Given the description of an element on the screen output the (x, y) to click on. 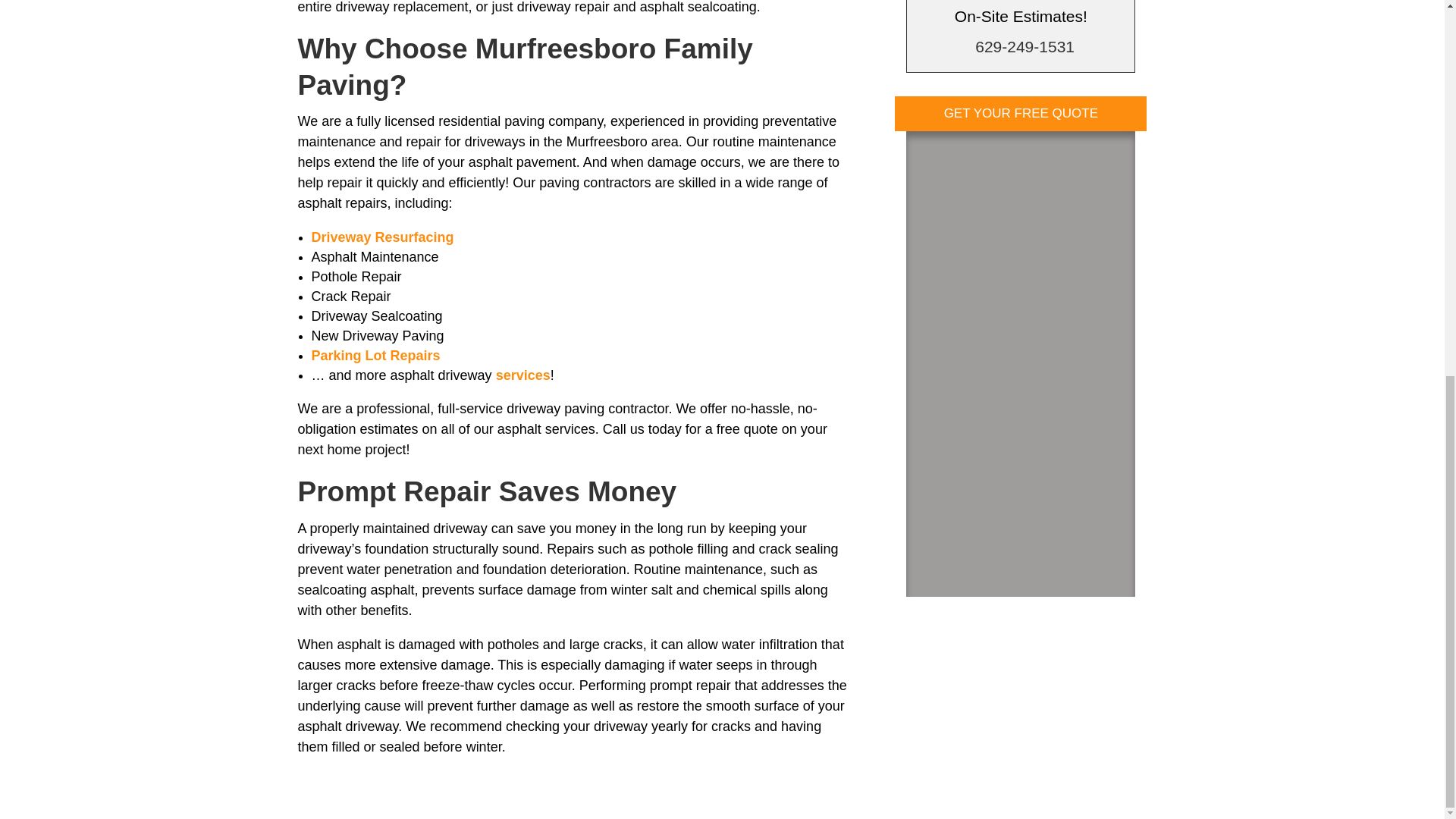
Parking Lot Repairs (375, 355)
Driveway Resurfacing (381, 237)
629-249-1531 (1024, 46)
services (523, 375)
